Given the description of an element on the screen output the (x, y) to click on. 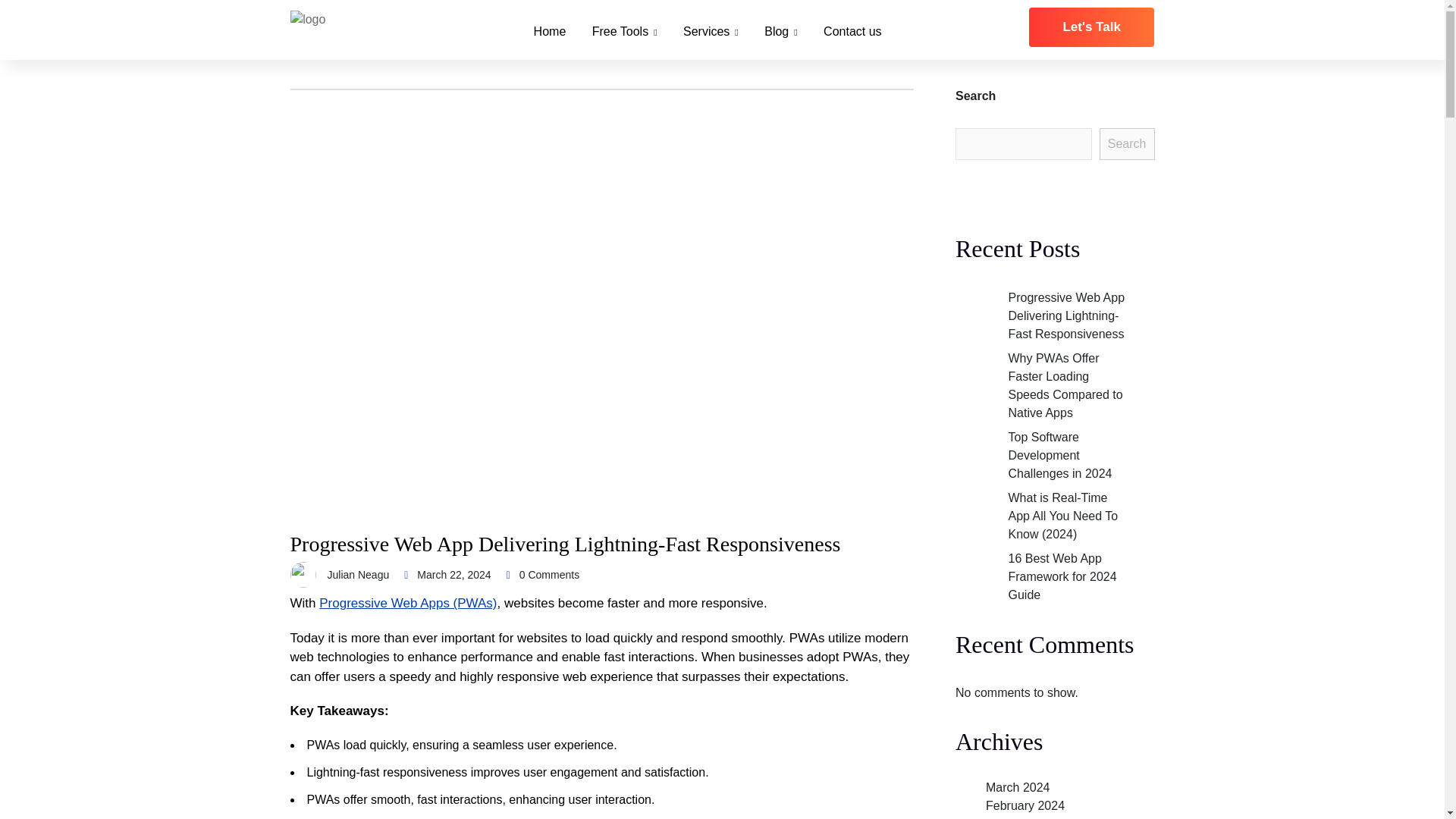
Home (550, 31)
Blog (780, 31)
Services (710, 31)
Free Tools (625, 31)
